Given the description of an element on the screen output the (x, y) to click on. 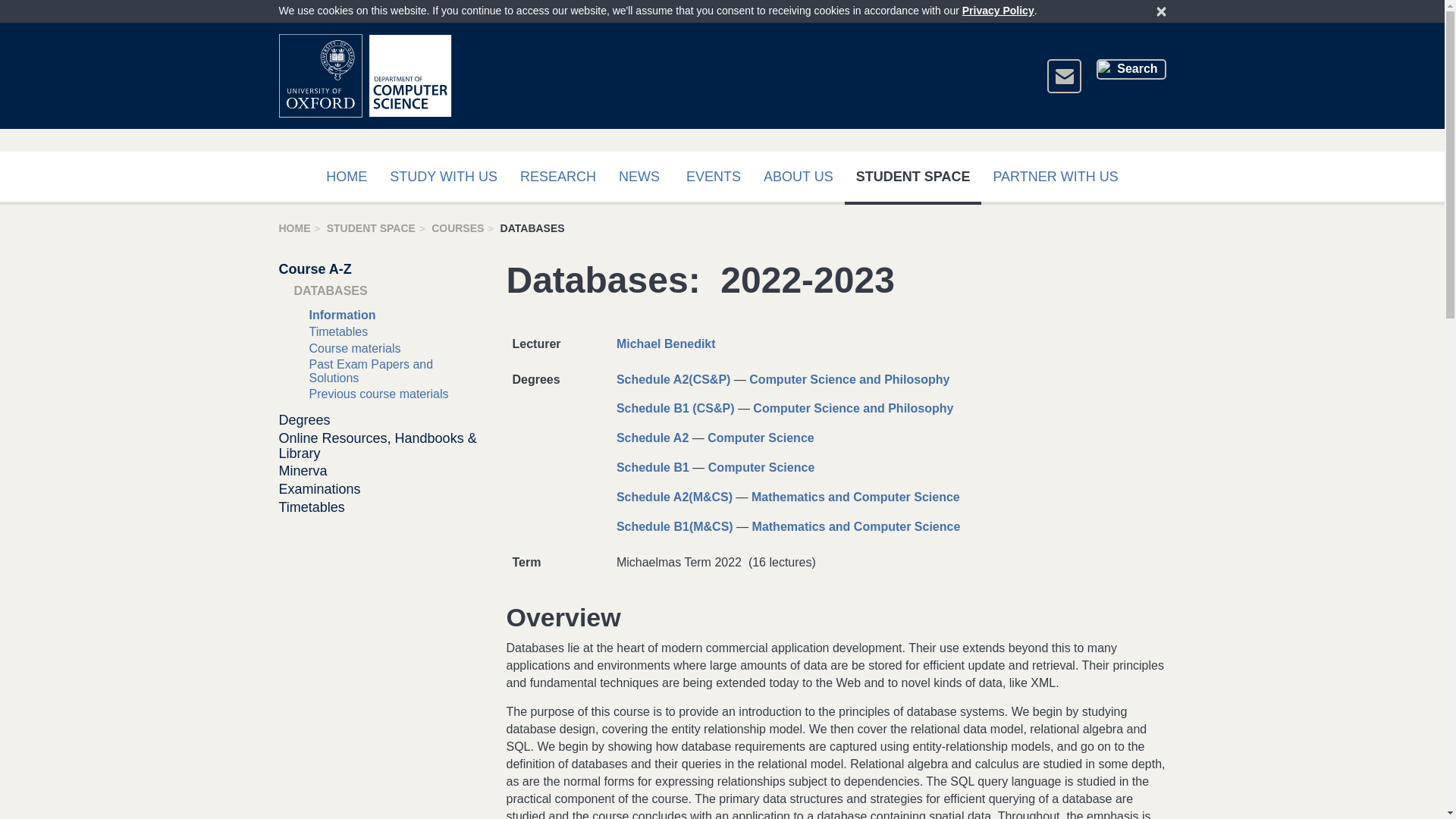
Michael Benedikt (665, 343)
Information (341, 314)
Computer Science (760, 437)
Mathematics and Computer Science (856, 526)
Timetables (338, 331)
Schedule B1 (651, 467)
Course A-Z (315, 268)
EVENTS (713, 177)
Privacy Policy (997, 10)
Course materials (354, 348)
STUDENT SPACE (370, 227)
HOME (295, 227)
Mathematics and Computer Science (855, 496)
PARTNER WITH US (1055, 177)
HOME (346, 177)
